Given the description of an element on the screen output the (x, y) to click on. 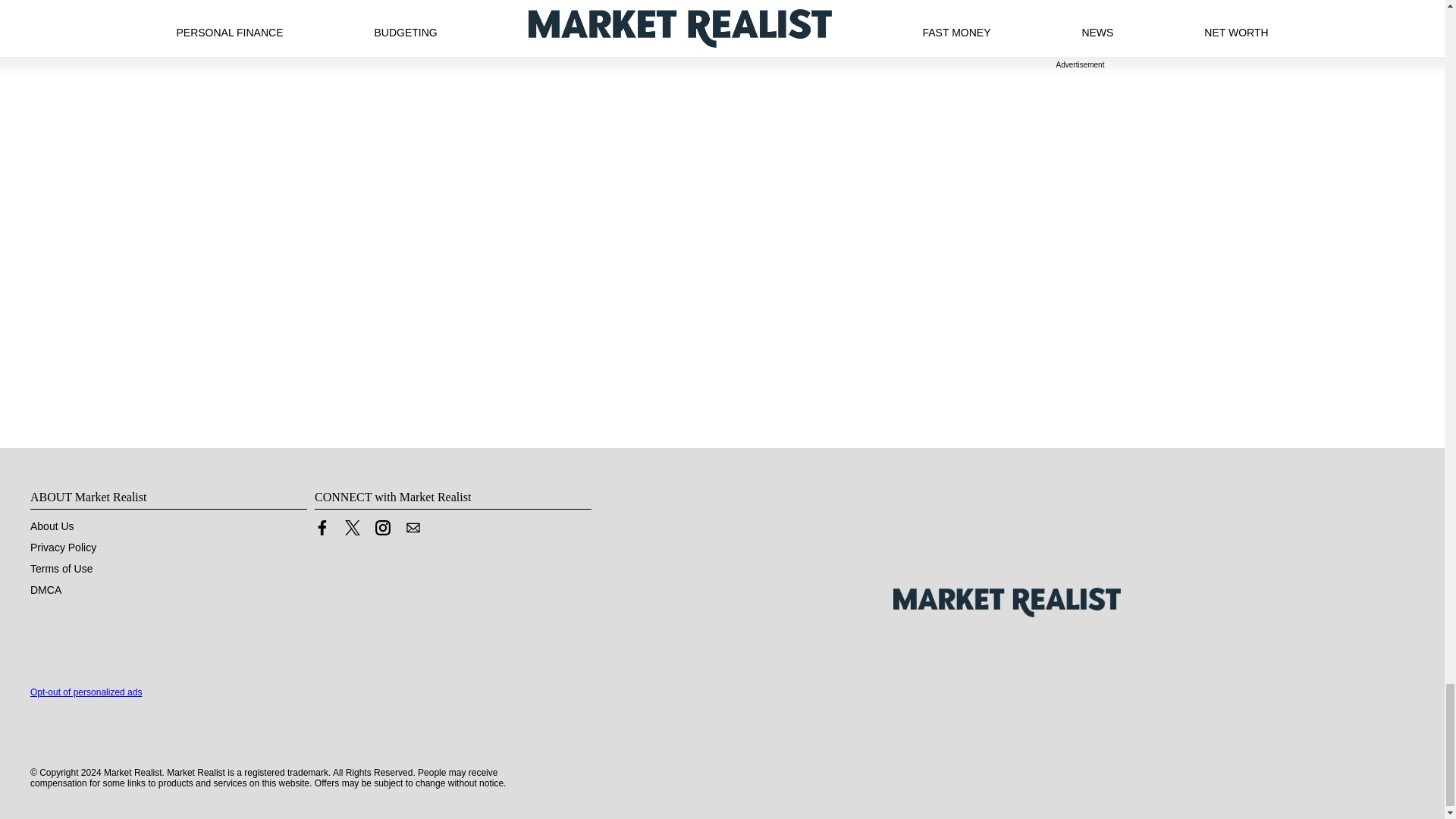
Link to X (352, 531)
Privacy Policy (63, 547)
DMCA (45, 589)
About Us (52, 526)
Opt-out of personalized ads (85, 692)
Link to Instagram (382, 531)
DMCA (45, 589)
Link to X (352, 527)
Link to Instagram (382, 527)
Link to Facebook (322, 527)
Contact us by Email (413, 531)
Terms of Use (61, 568)
Contact us by Email (413, 527)
Link to Facebook (322, 531)
Terms of Use (61, 568)
